Given the description of an element on the screen output the (x, y) to click on. 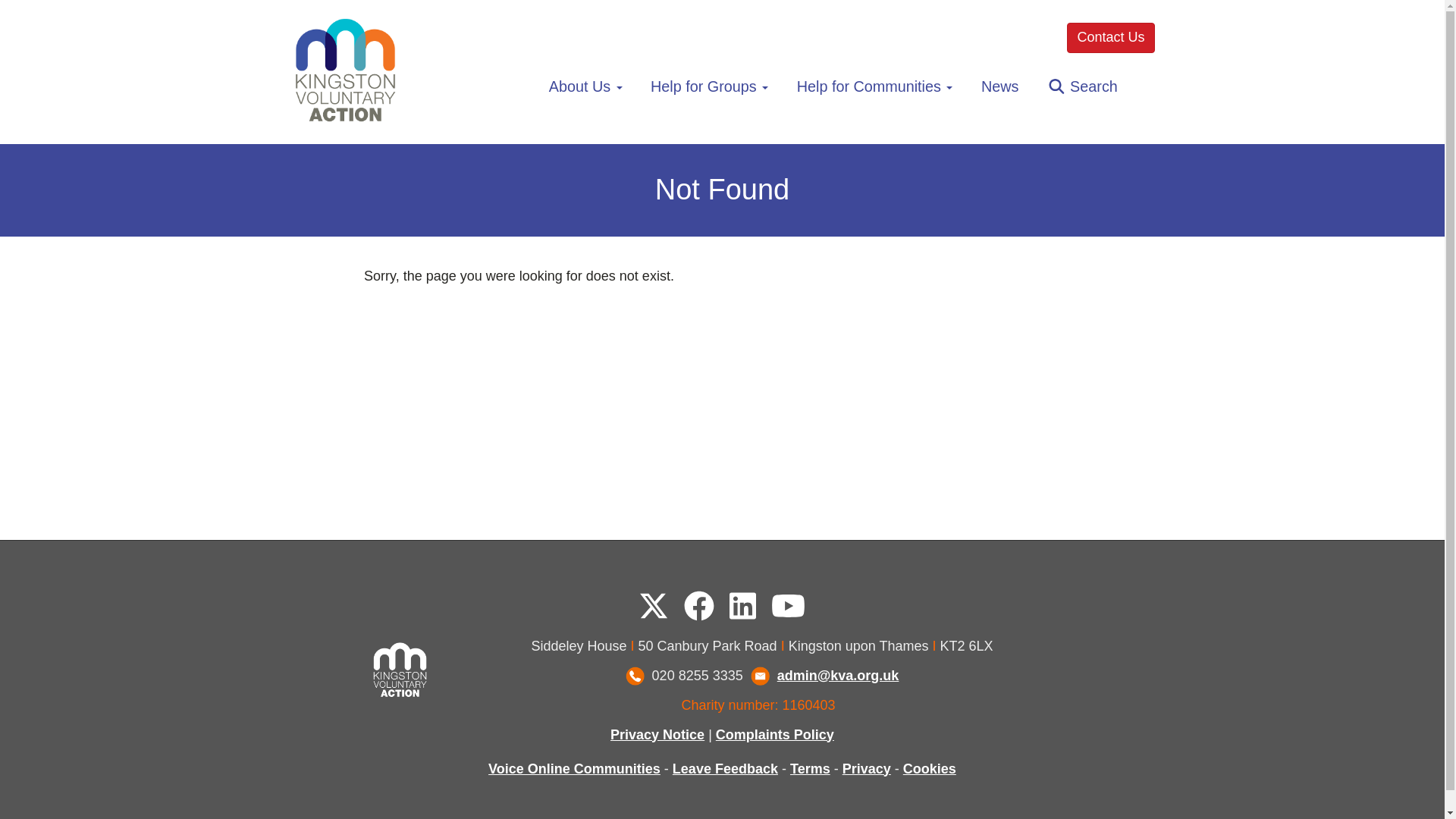
Facebook (699, 606)
Help for Groups (708, 86)
Privacy Notice (657, 734)
About Us (585, 86)
Facebook (699, 605)
News (999, 86)
Complaints Policy (775, 734)
Contact Us (1110, 37)
YouTube (788, 606)
